Given the description of an element on the screen output the (x, y) to click on. 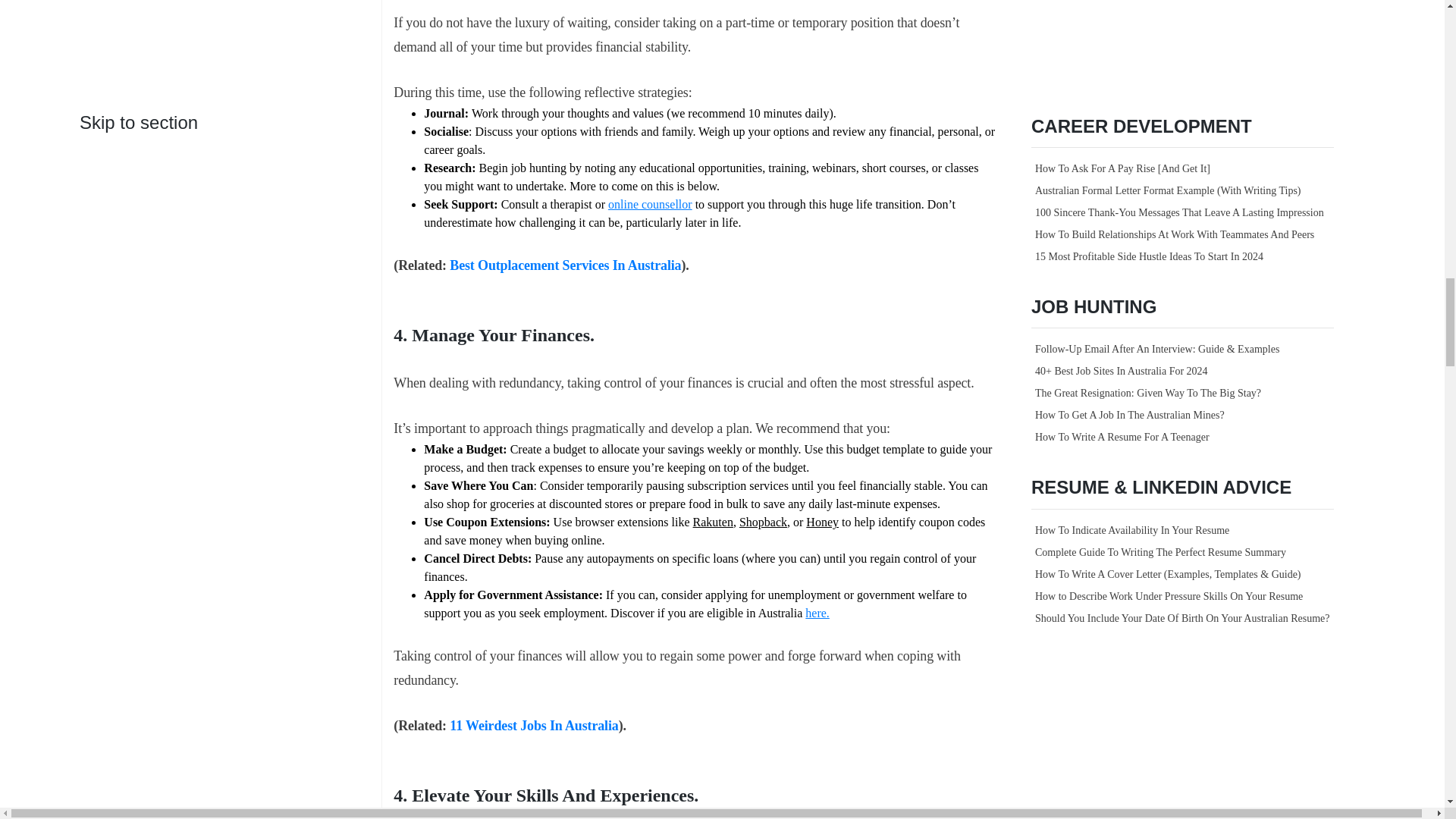
here. (817, 612)
Best Outplacement Services In Australia (565, 264)
online counsellor (650, 204)
11 Weirdest Jobs In Australia (533, 725)
